Given the description of an element on the screen output the (x, y) to click on. 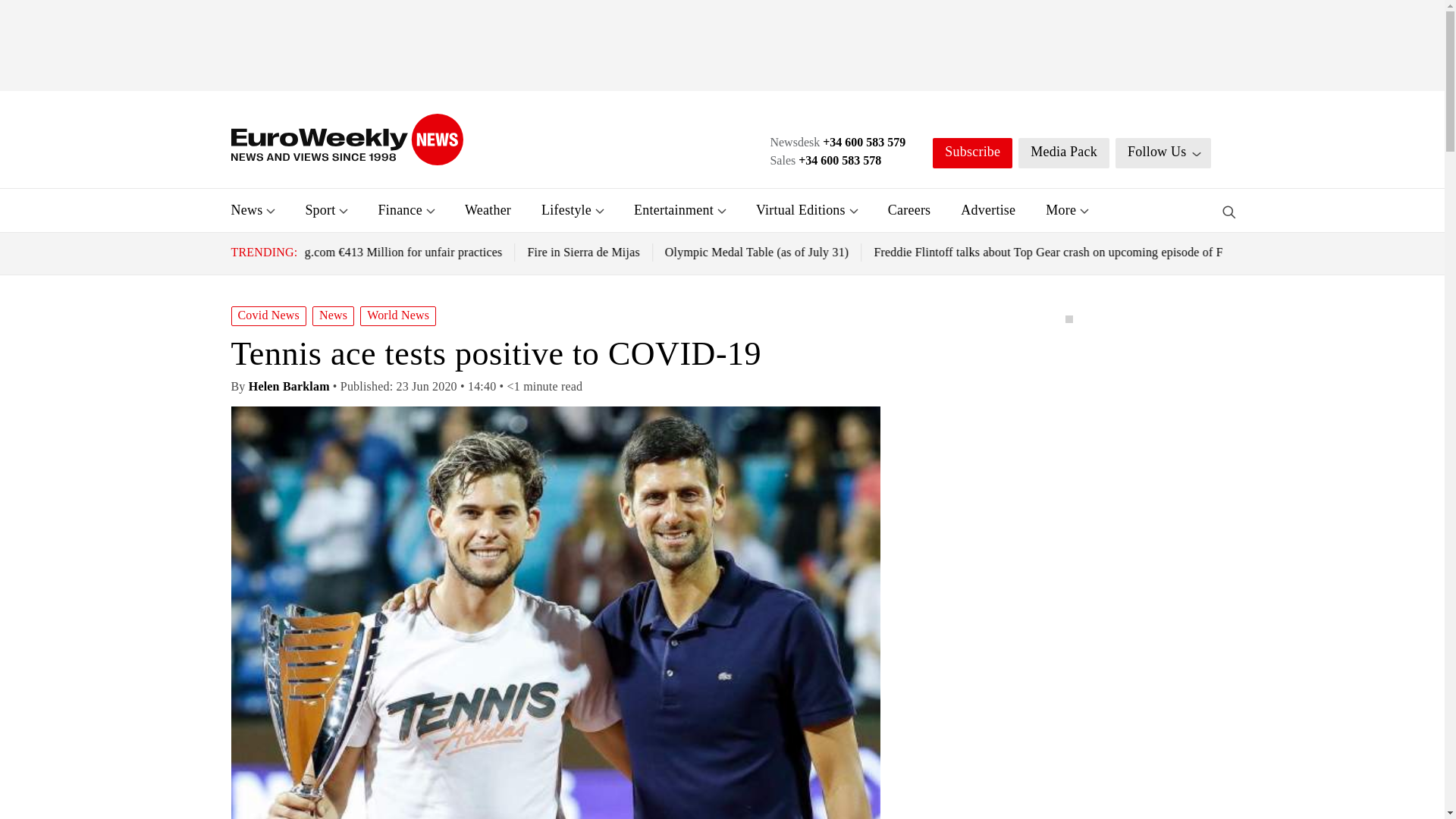
Follow Us (1163, 153)
Subscribe (972, 153)
News (246, 209)
Media Pack (1063, 153)
